Given the description of an element on the screen output the (x, y) to click on. 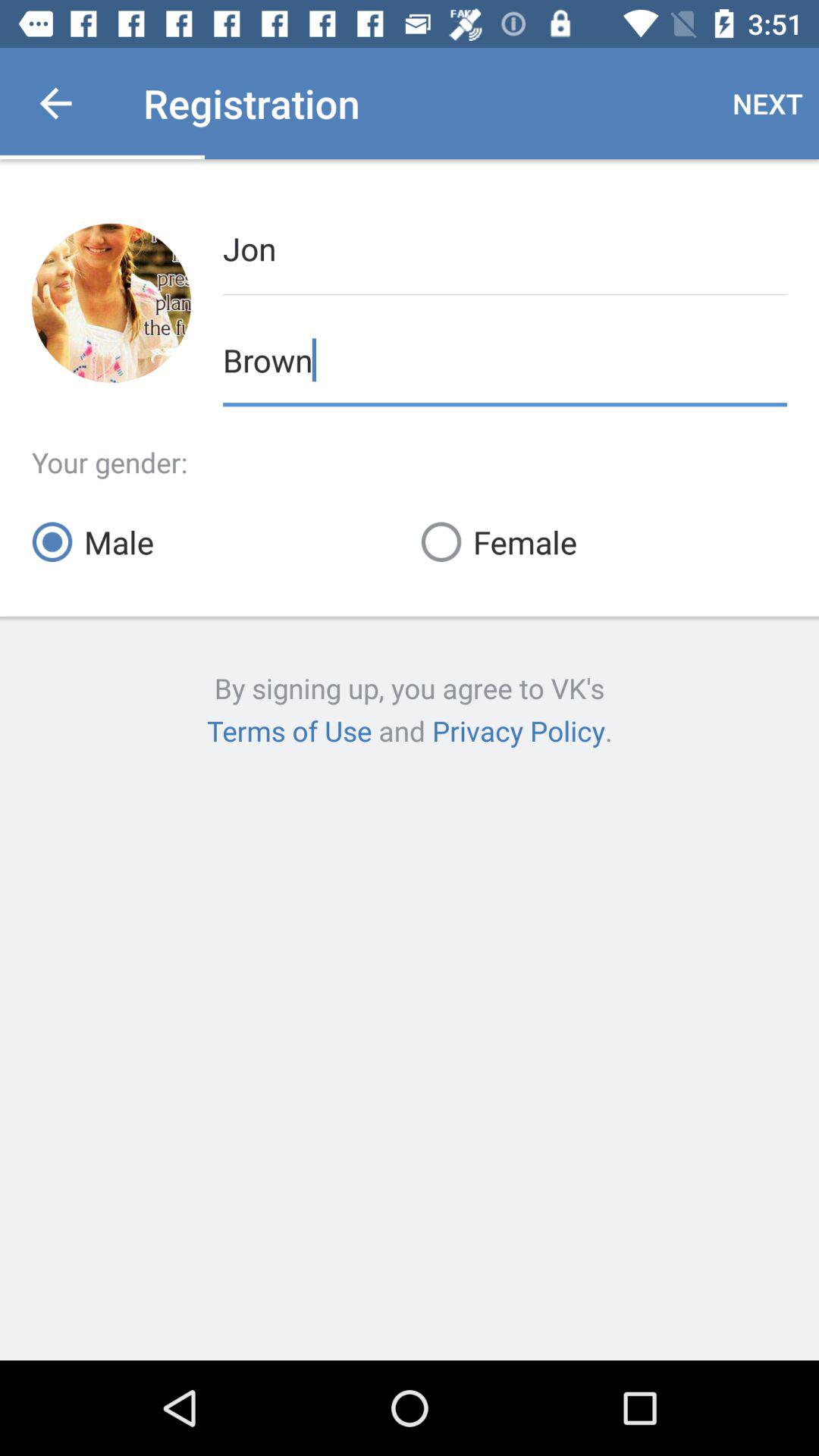
tap item next to registration (55, 103)
